Given the description of an element on the screen output the (x, y) to click on. 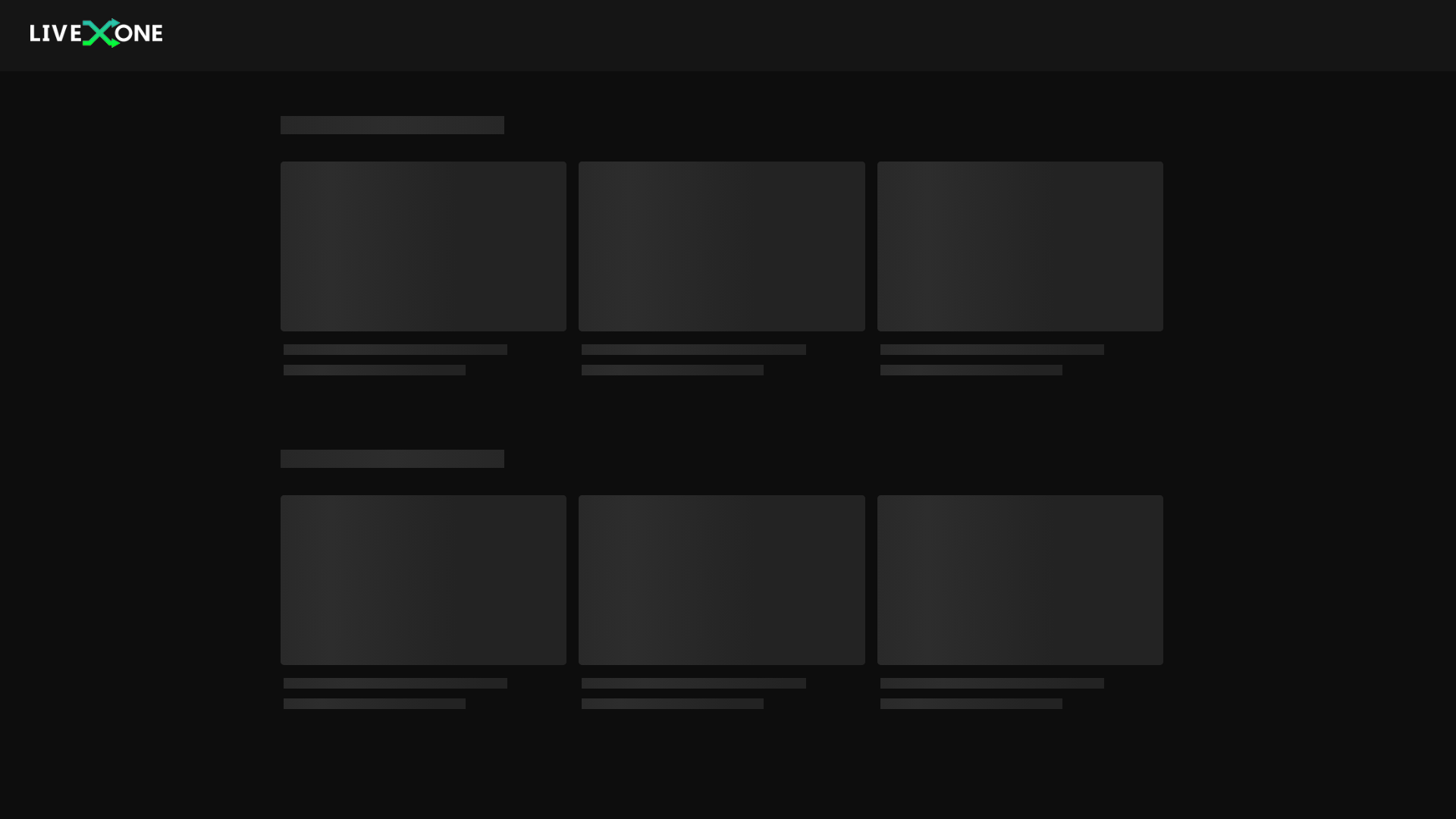
LiveOne on X (1144, 781)
LiveOne on TikTok (1096, 781)
LiveOne on Instagram (1072, 781)
LiveOne on Facebook (1167, 781)
LiveOne on YouTube (1120, 781)
